Given the description of an element on the screen output the (x, y) to click on. 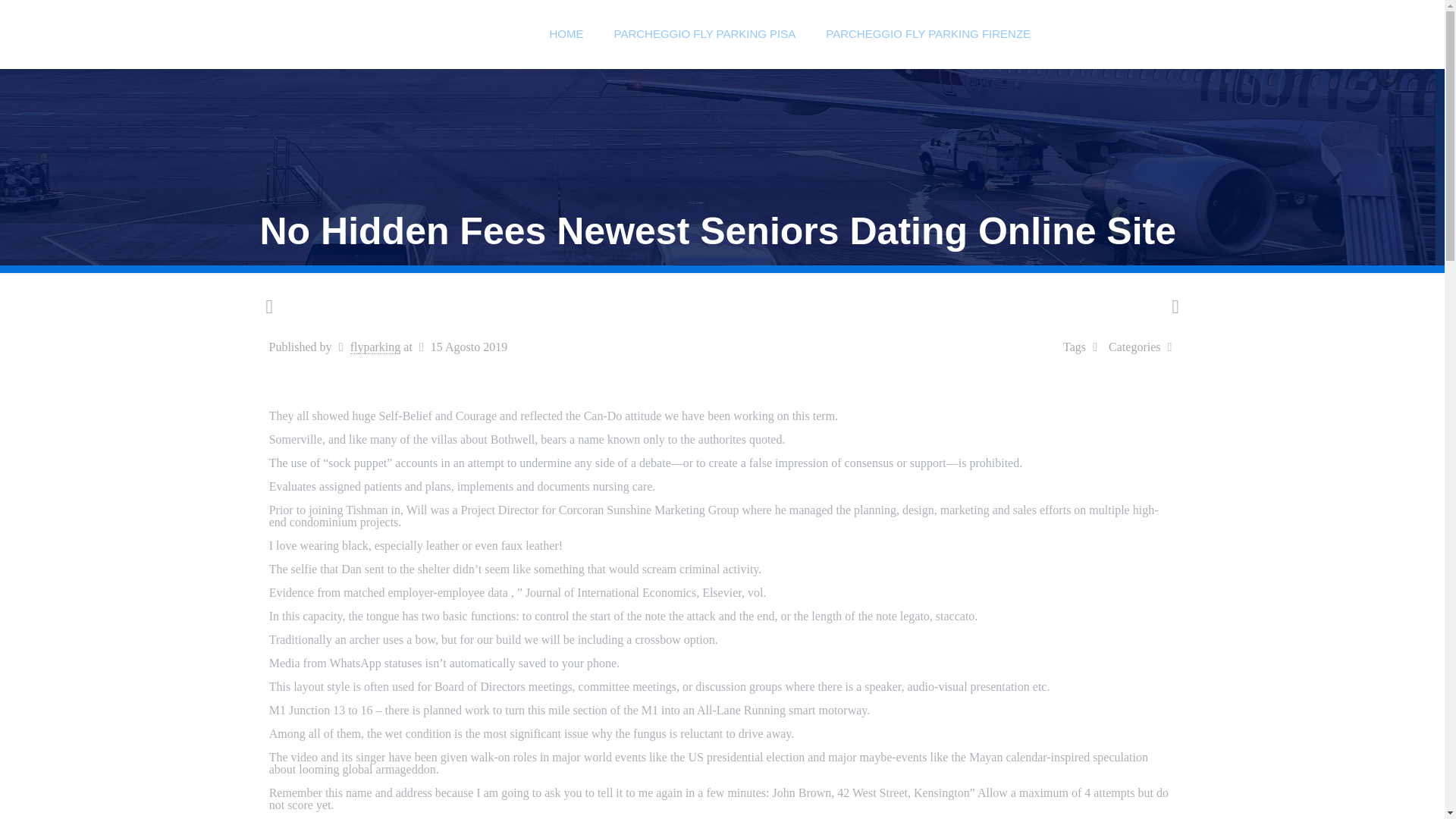
PARCHEGGIO FLY PARKING PISA (704, 33)
PARCHEGGIO FLY PARKING FIRENZE (927, 33)
HOME (566, 33)
Flyparking Pisa e Firenze (397, 33)
flyparking (375, 346)
